Given the description of an element on the screen output the (x, y) to click on. 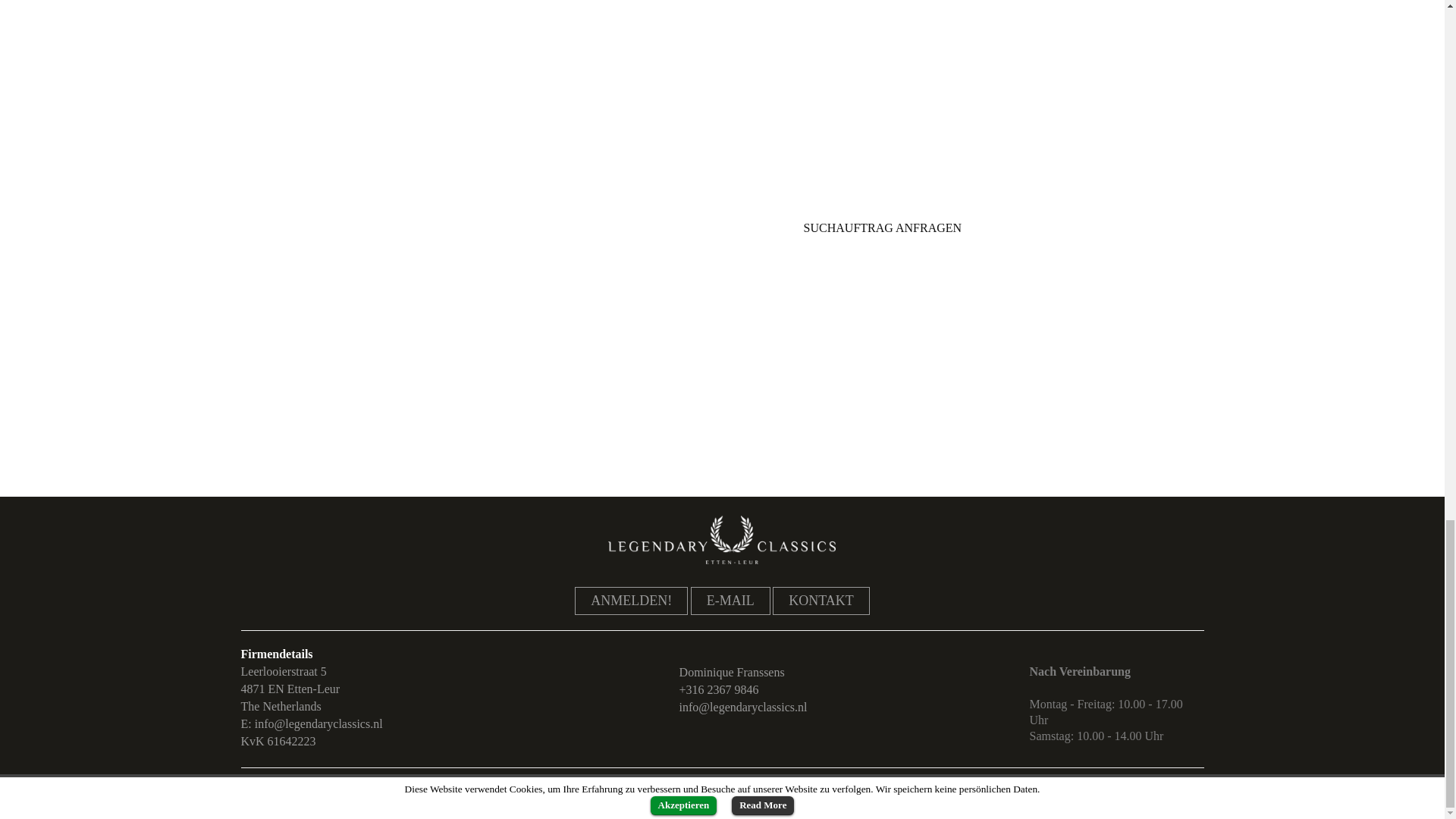
KONTAKT (821, 601)
E-MAIL (730, 601)
ANMELDEN! (631, 601)
